Given the description of an element on the screen output the (x, y) to click on. 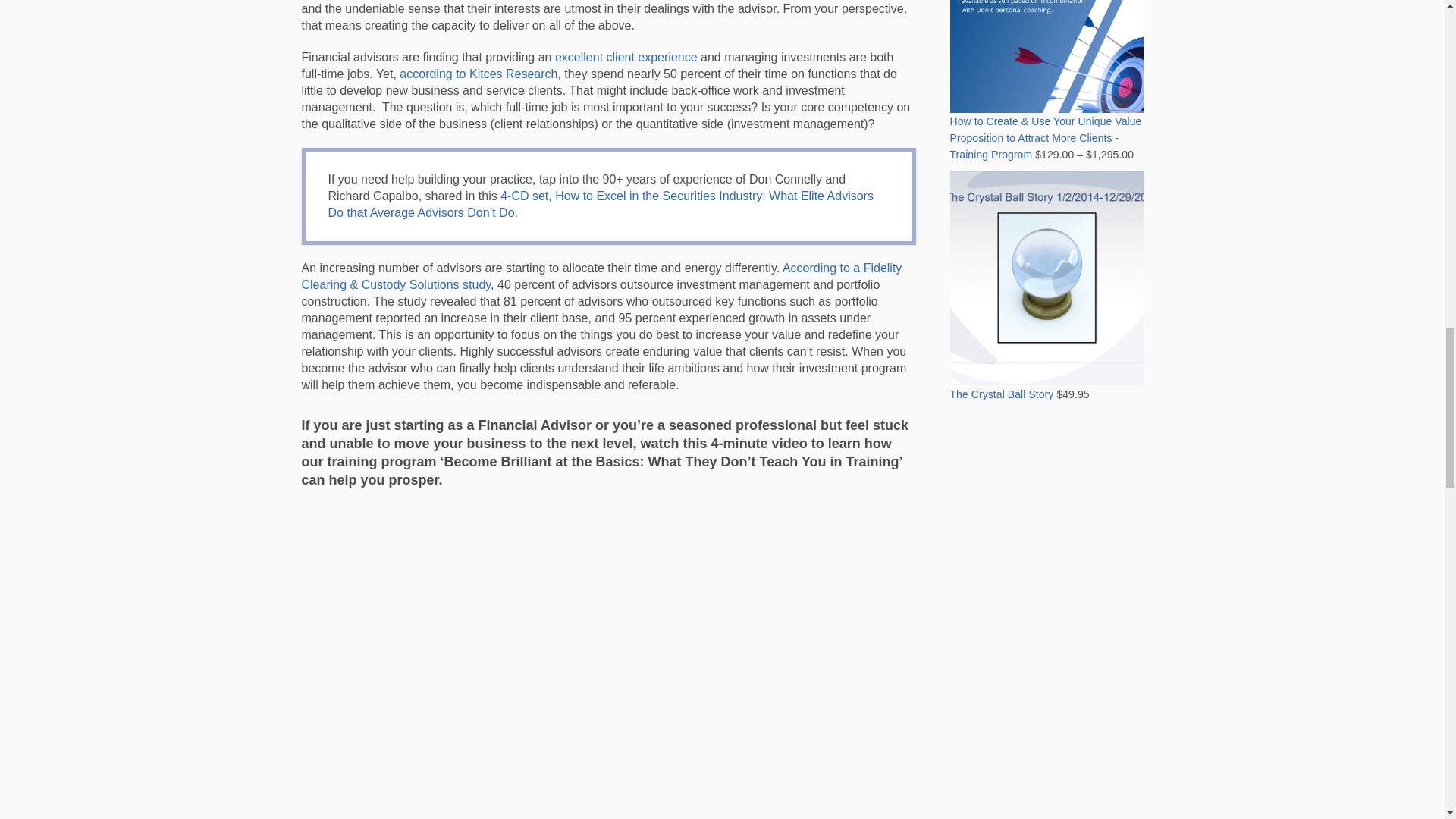
excellent client experience (625, 56)
according to Kitces Research (477, 73)
The Crystal Ball Story (1045, 335)
